Given the description of an element on the screen output the (x, y) to click on. 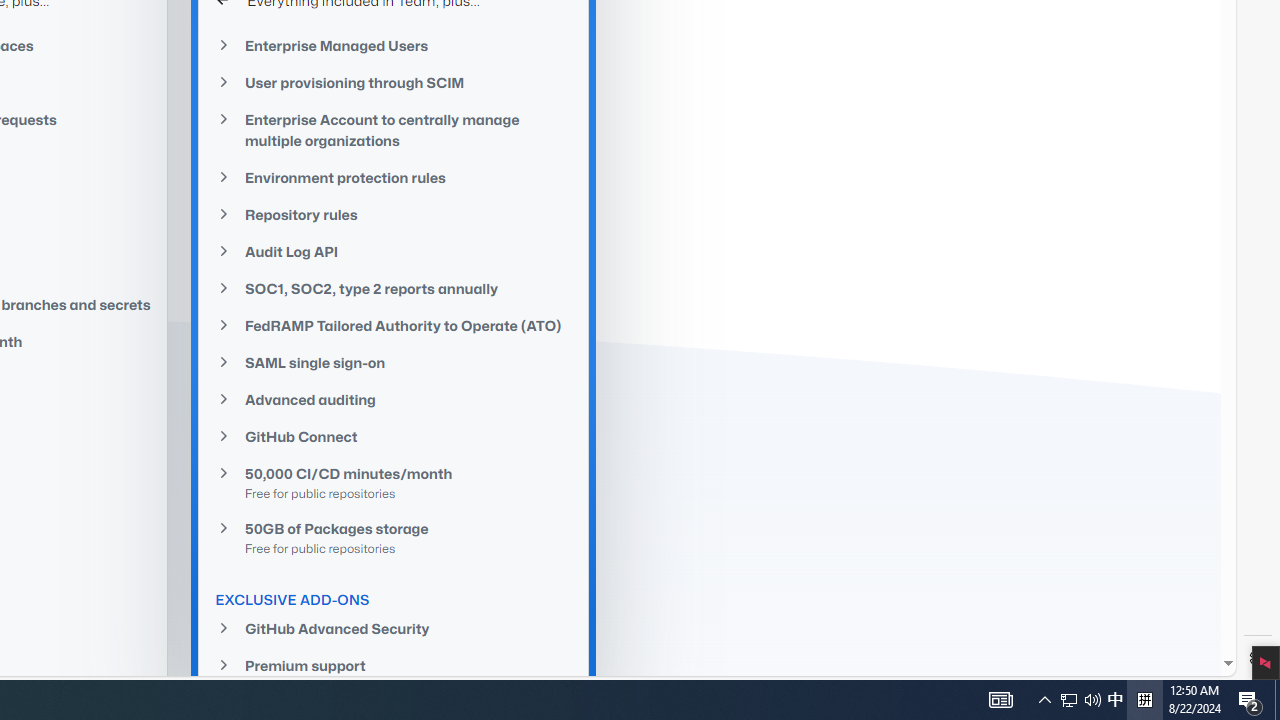
Advanced auditing (394, 399)
SOC1, SOC2, type 2 reports annually (394, 288)
Enterprise Managed Users (394, 45)
50,000 CI/CD minutes/month Free for public repositories (394, 483)
Premium support (394, 664)
Premium support (394, 665)
50GB of Packages storage Free for public repositories (394, 537)
Environment protection rules (394, 178)
Repository rules (394, 214)
User provisioning through SCIM (394, 83)
SAML single sign-on (394, 363)
50,000 CI/CD minutes/monthFree for public repositories (394, 482)
SAML single sign-on (394, 362)
GitHub Advanced Security (394, 628)
